Given the description of an element on the screen output the (x, y) to click on. 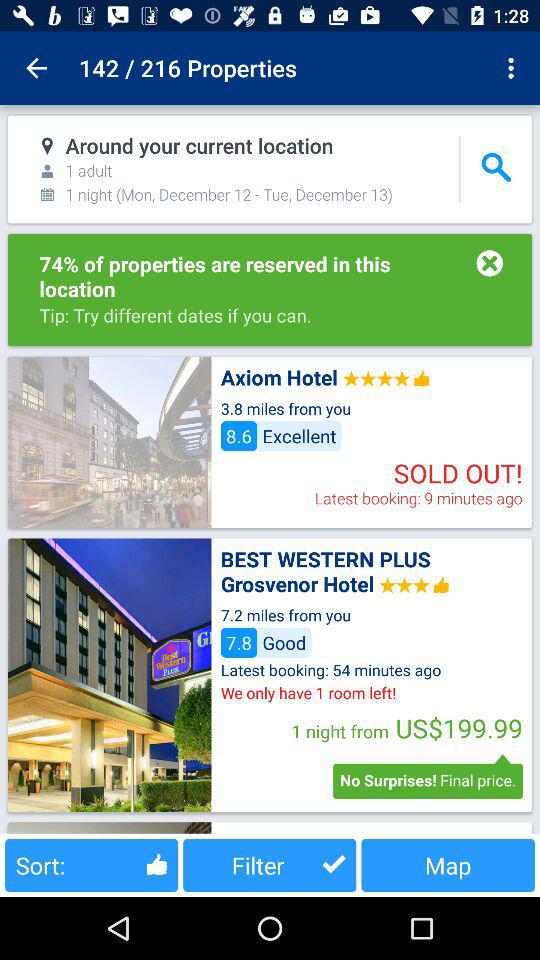
open item to the right of 142 / 216 properties icon (513, 67)
